Given the description of an element on the screen output the (x, y) to click on. 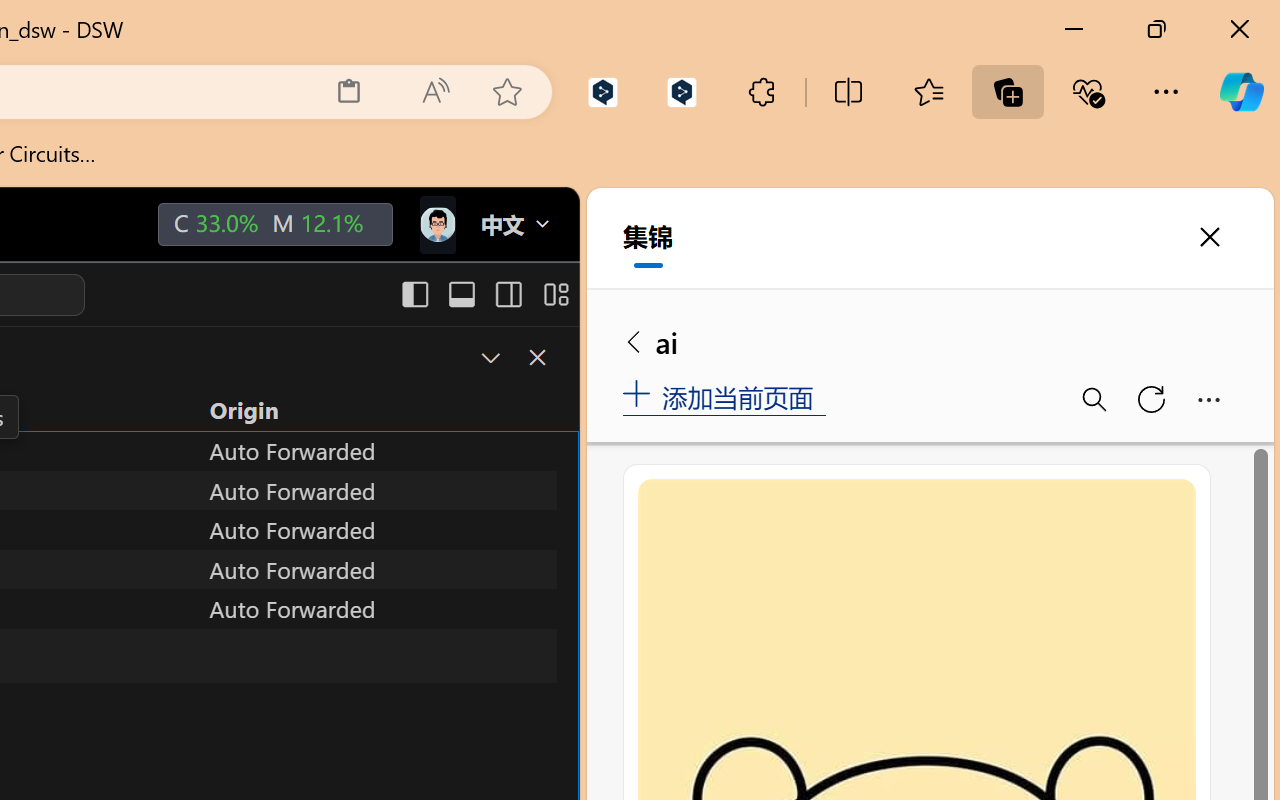
Copilot (Ctrl+Shift+.) (1241, 91)
Restore Panel Size (488, 357)
Toggle Panel (Ctrl+J) (461, 294)
Close Panel (535, 357)
Toggle Secondary Side Bar (Ctrl+Alt+B) (506, 294)
